Given the description of an element on the screen output the (x, y) to click on. 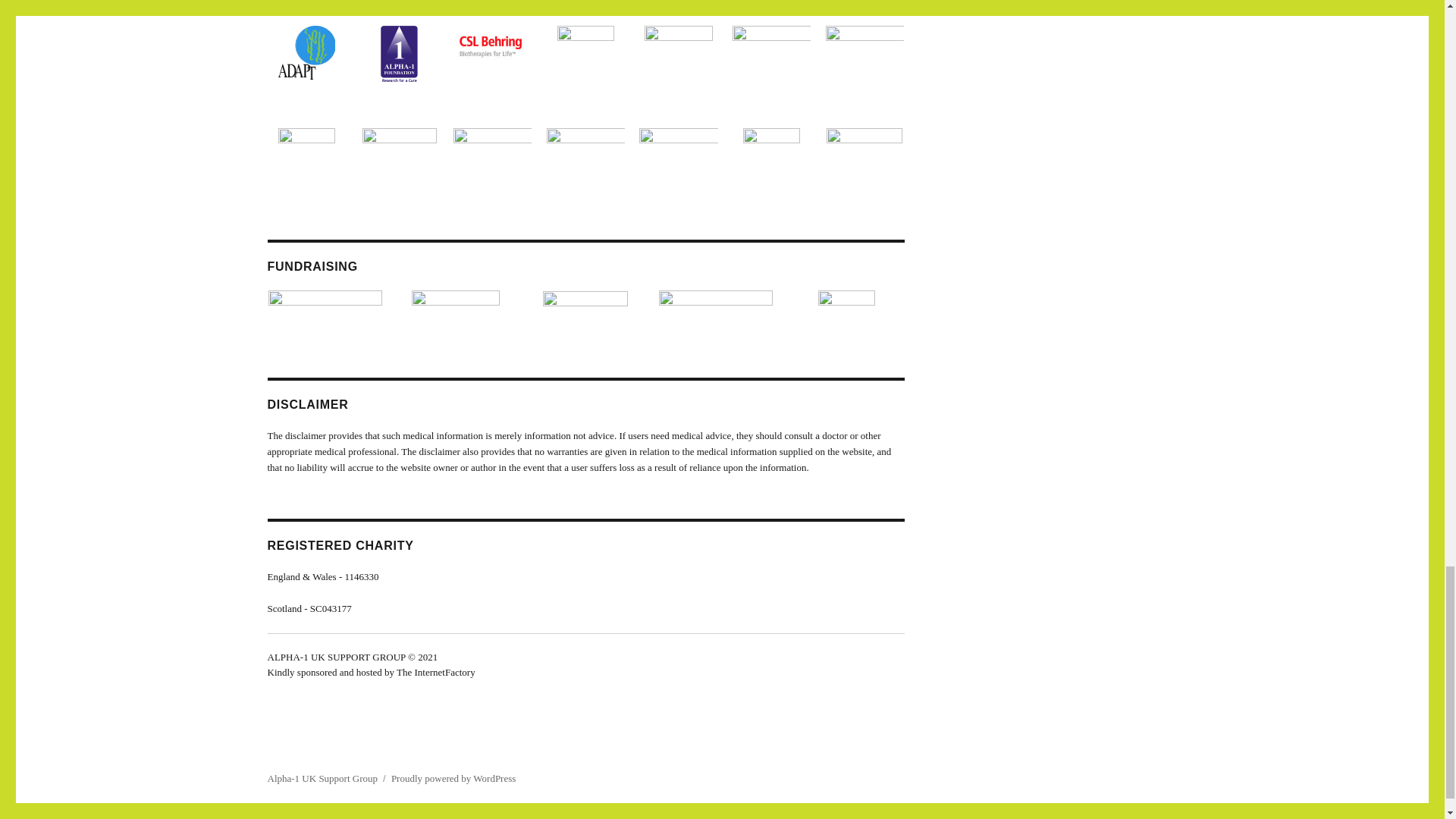
Donate with JustGiving (716, 303)
JustGiving (585, 297)
ebay for Charity (846, 304)
easyfundraising.org.uk (324, 302)
easysearch.org.uk (455, 301)
